Given the description of an element on the screen output the (x, y) to click on. 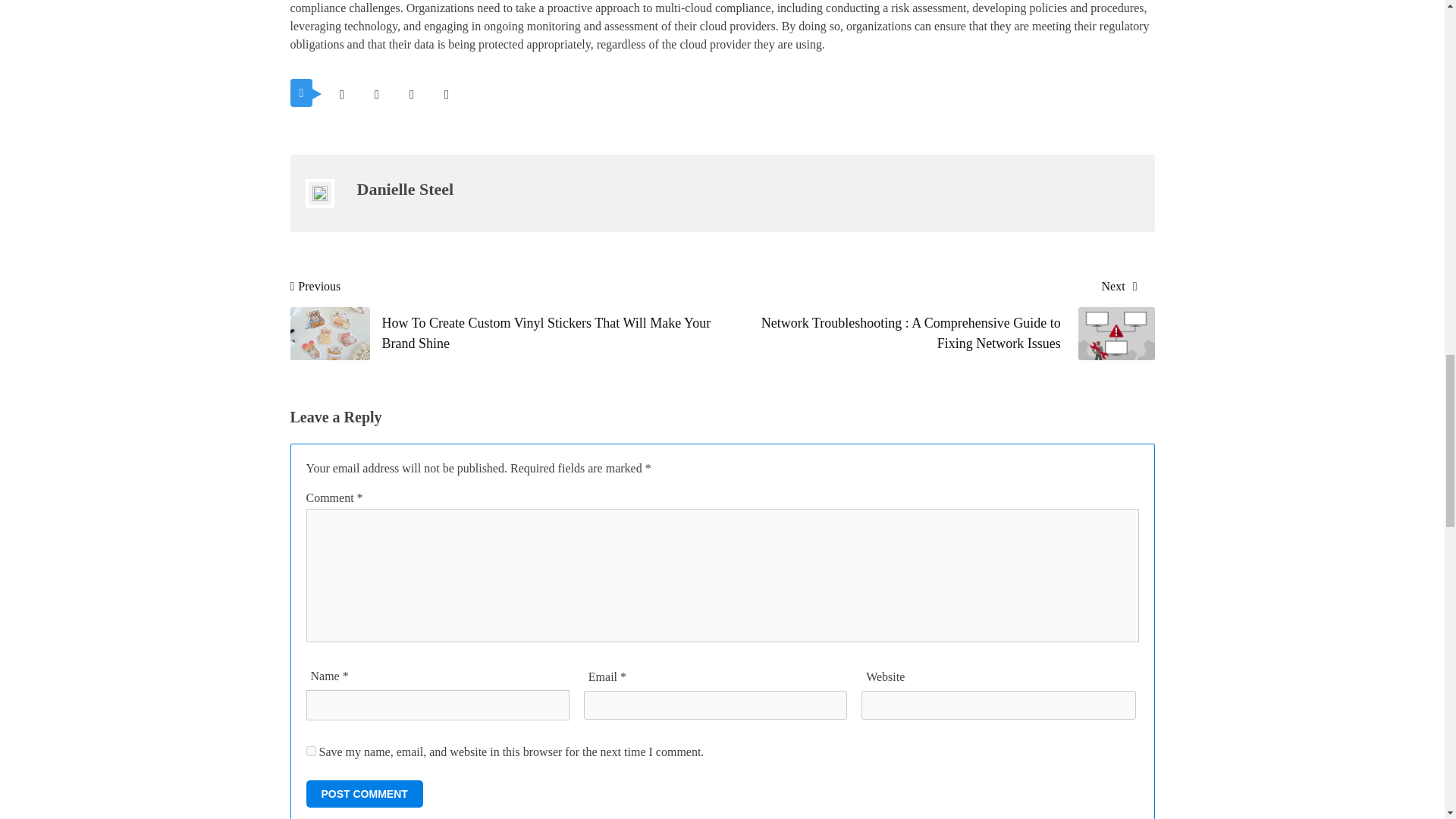
yes (310, 750)
Tweet This! (342, 94)
Post Comment (364, 793)
Share on Linkedin (446, 94)
Share on Facebook (376, 94)
Share on Pinterest (411, 94)
